Given the description of an element on the screen output the (x, y) to click on. 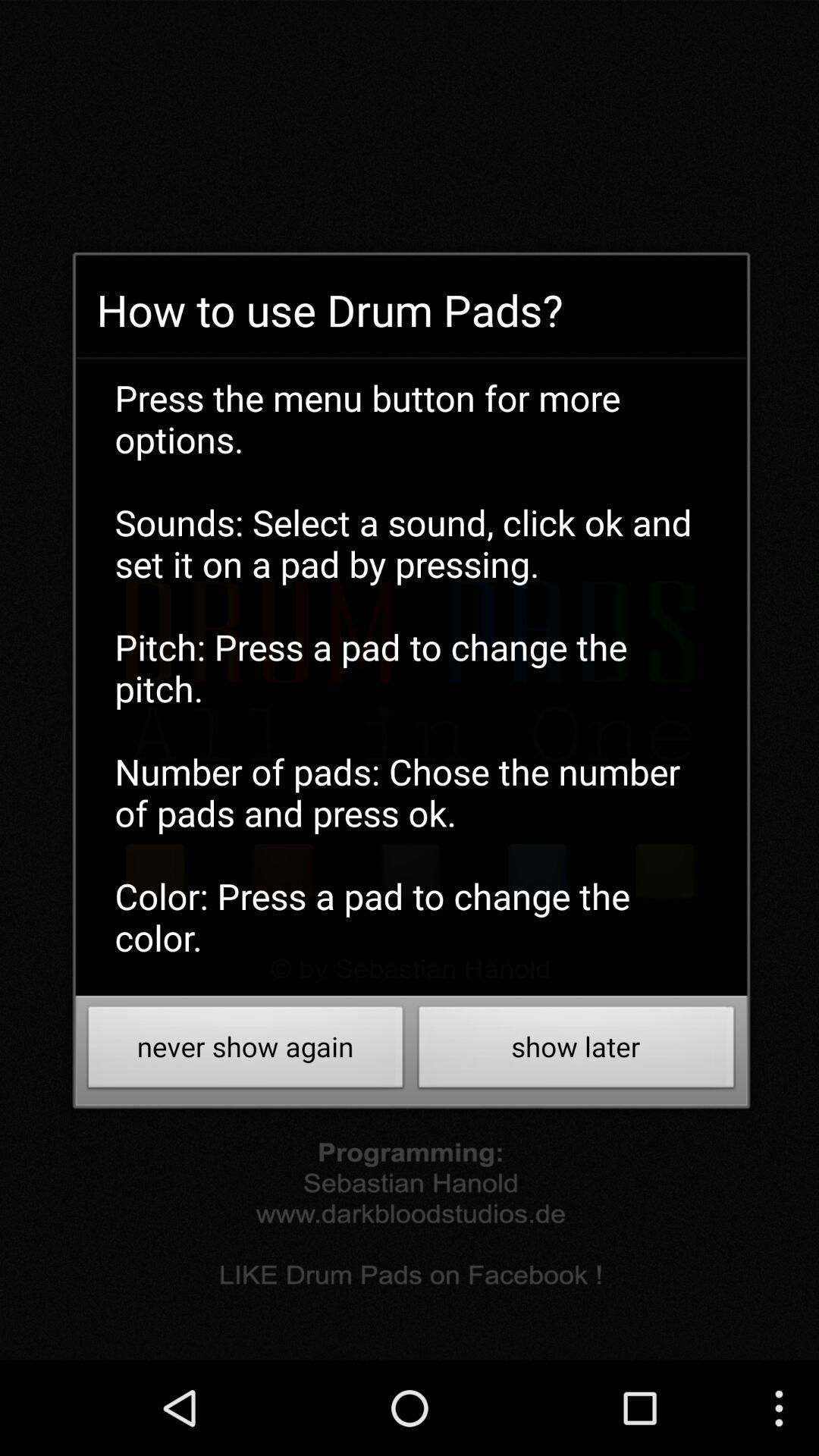
turn on app below press the menu (576, 1051)
